Given the description of an element on the screen output the (x, y) to click on. 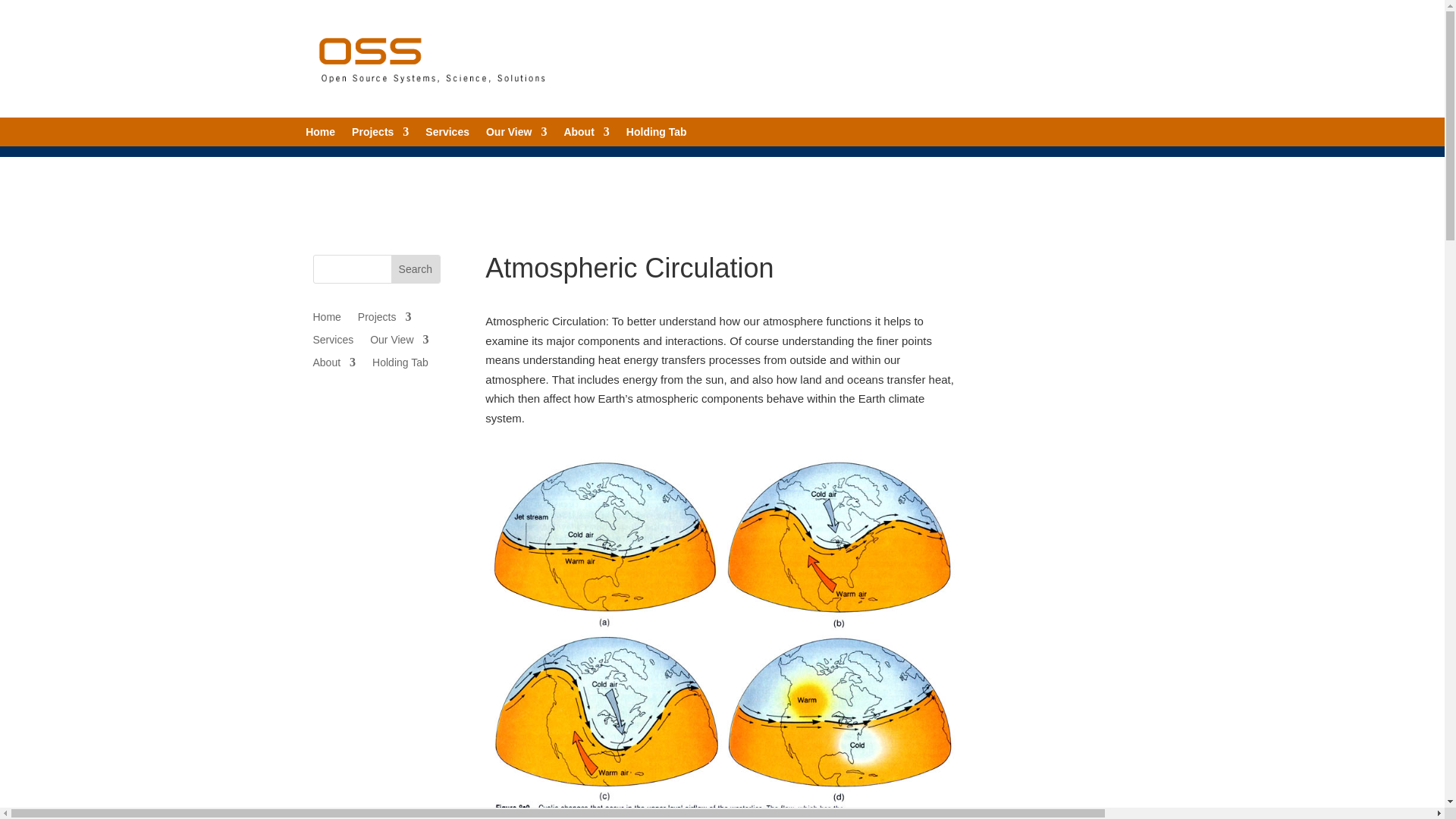
Search (415, 268)
Search (415, 268)
